Given the description of an element on the screen output the (x, y) to click on. 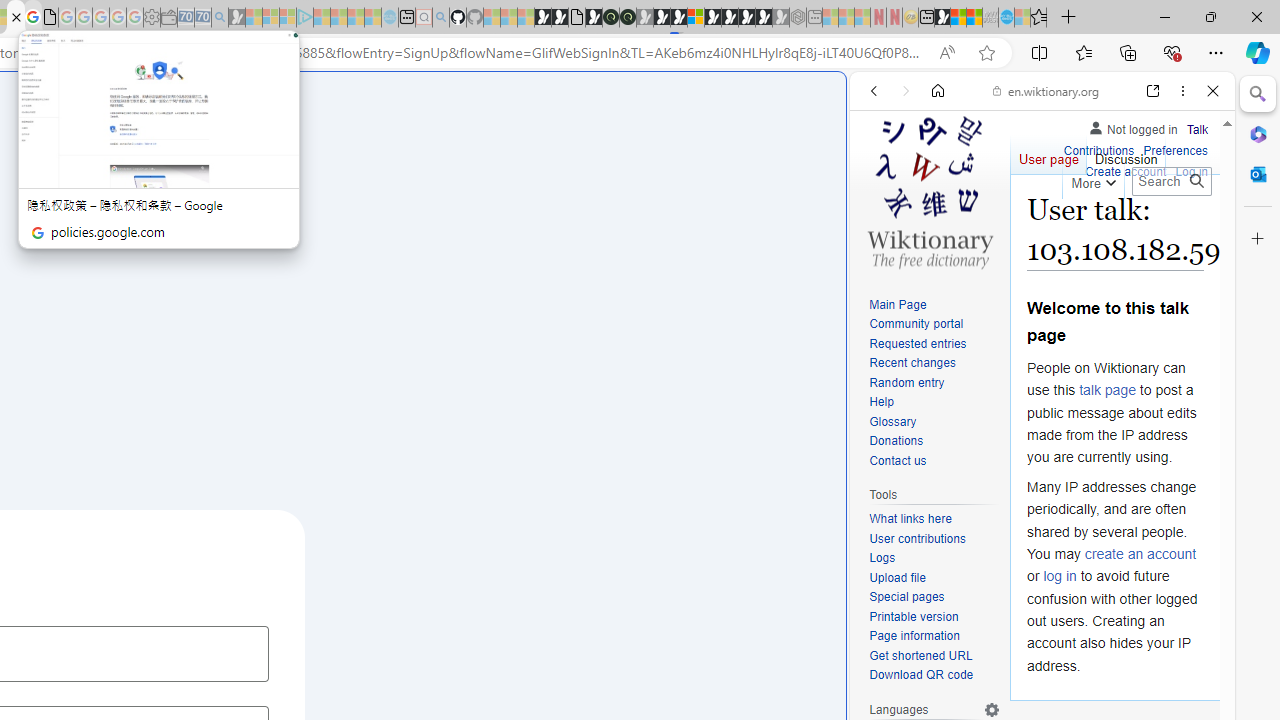
Requested entries (934, 344)
Community portal (934, 324)
More (1092, 179)
Main Page (934, 305)
Visit the main page (929, 190)
Main Page (897, 303)
create an account (1140, 553)
